Given the description of an element on the screen output the (x, y) to click on. 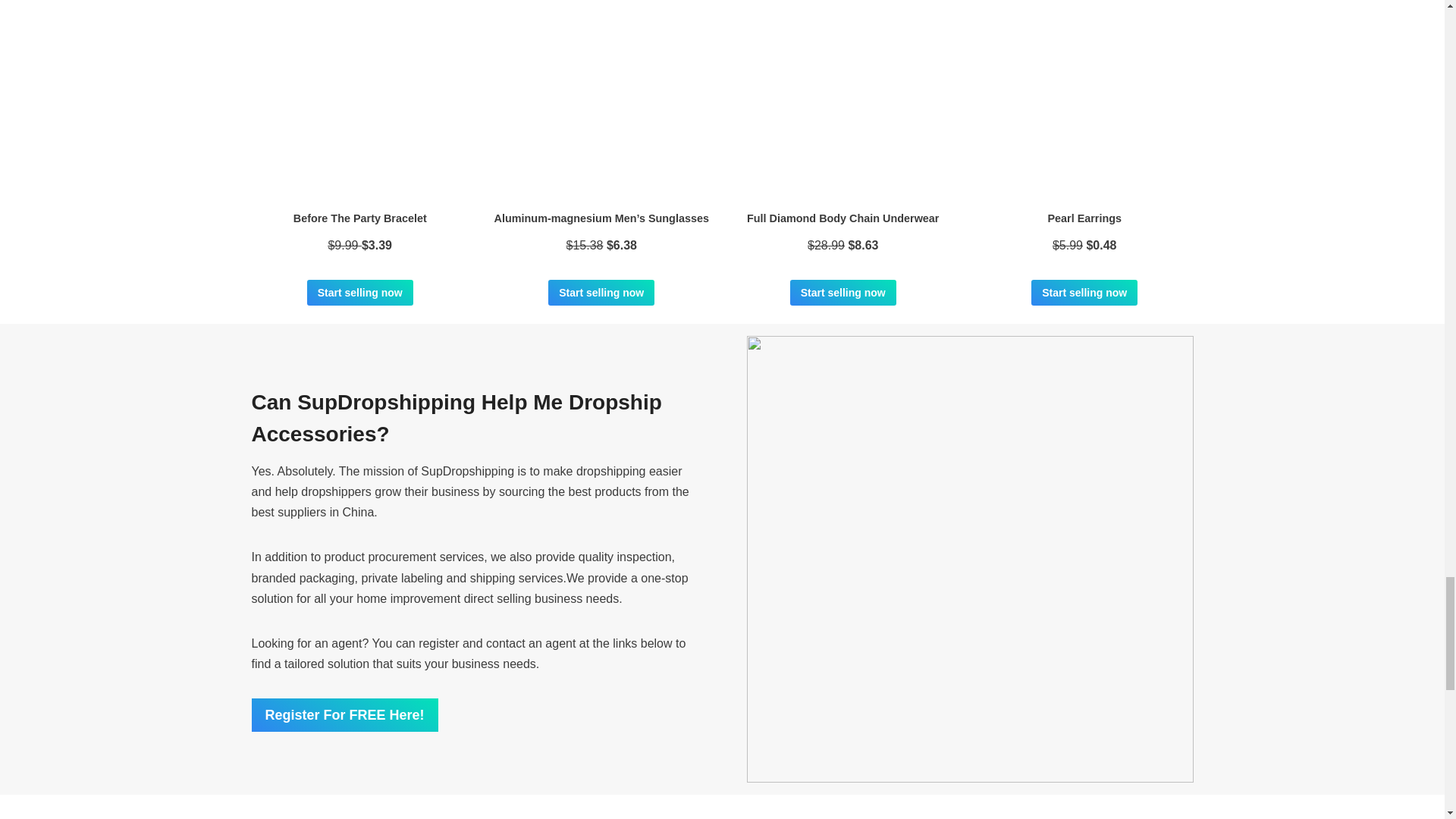
Before The Party Bracelet (359, 218)
Start selling now (360, 292)
